Given the description of an element on the screen output the (x, y) to click on. 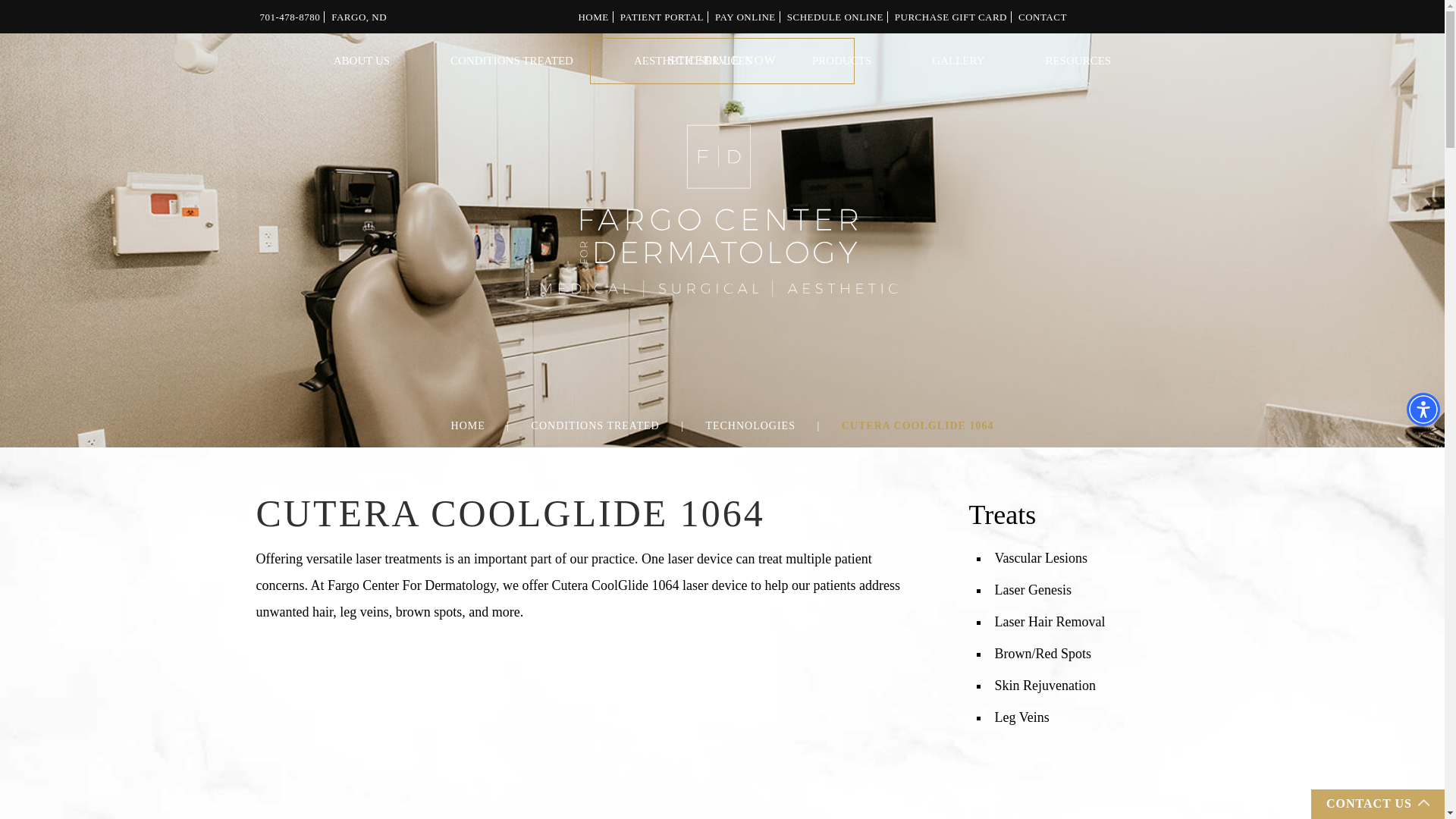
PATIENT PORTAL (661, 16)
SCHEDULE ONLINE (835, 16)
PURCHASE GIFT CARD (951, 16)
FARGO, ND (359, 16)
CONDITIONS TREATED (512, 60)
HOME (593, 16)
ABOUT US (360, 60)
PAY ONLINE (745, 16)
Accessibility Menu (1422, 409)
701-478-8780 (289, 16)
CONTACT (1042, 16)
